Given the description of an element on the screen output the (x, y) to click on. 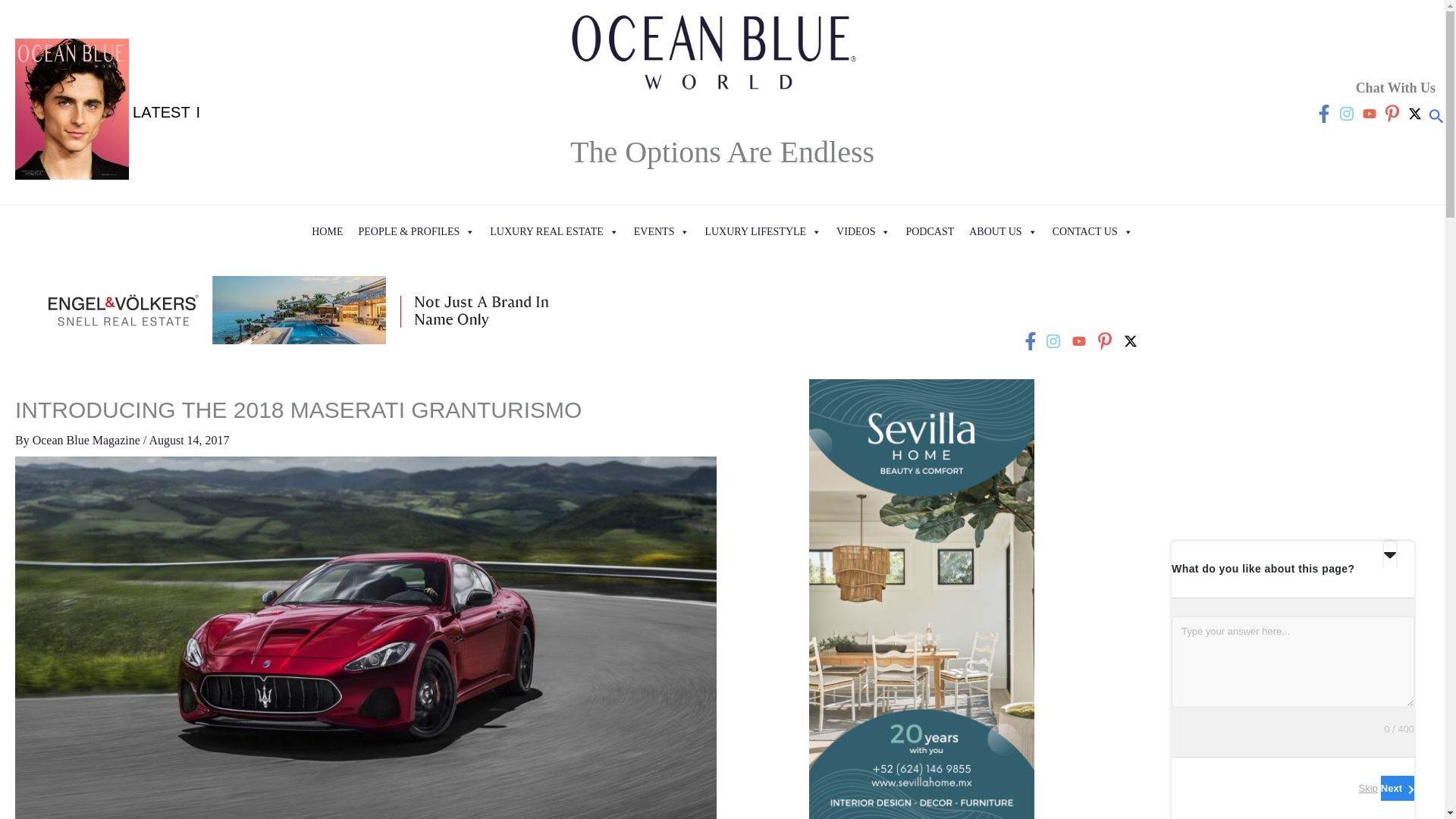
View all posts by Ocean Blue Magazine (87, 440)
LUXURY LIFESTYLE (762, 232)
EVENTS (661, 232)
LUXURY REAL ESTATE (553, 232)
HOME (327, 232)
